Given the description of an element on the screen output the (x, y) to click on. 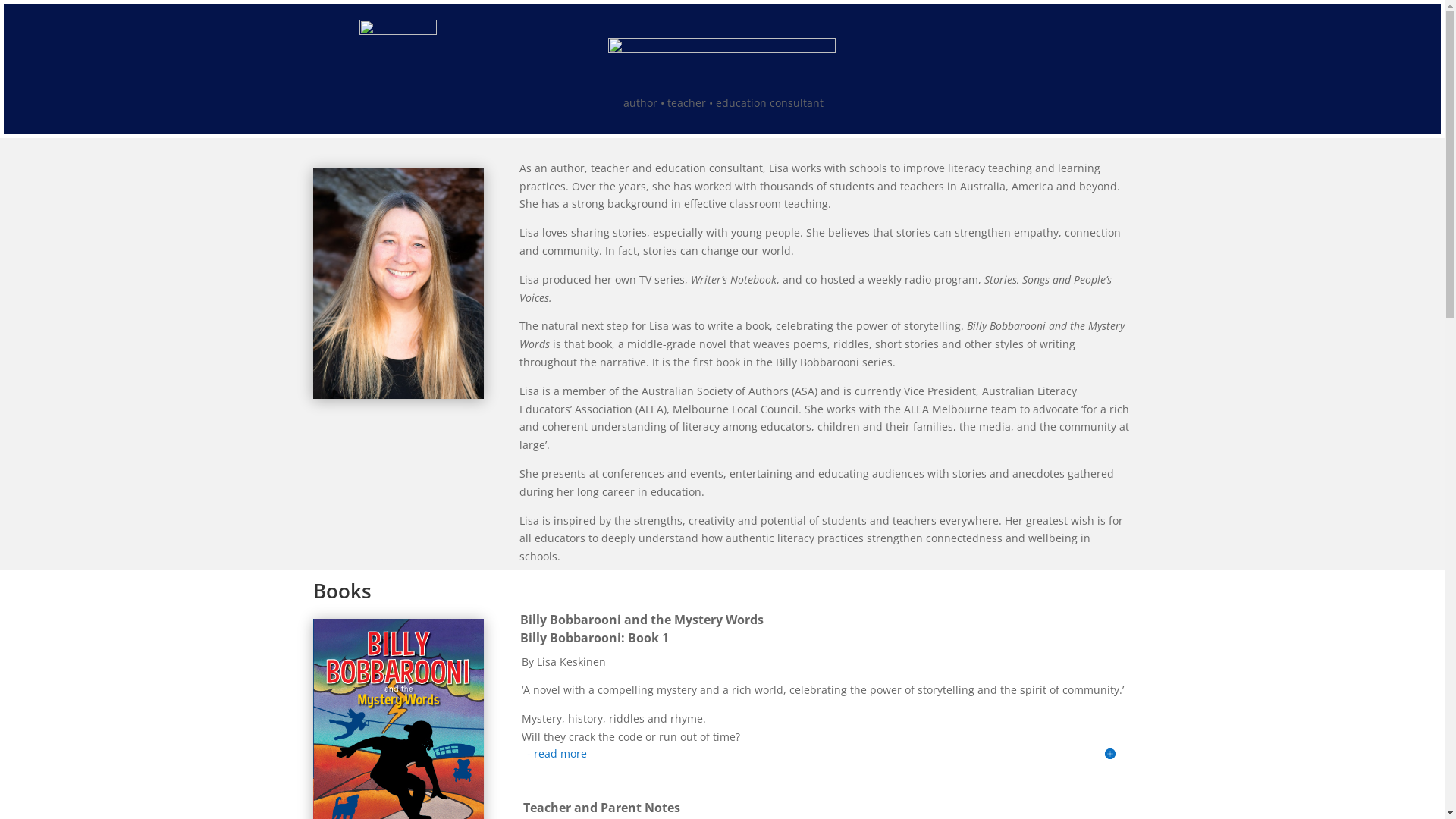
lisa keskinen Element type: hover (397, 283)
